Given the description of an element on the screen output the (x, y) to click on. 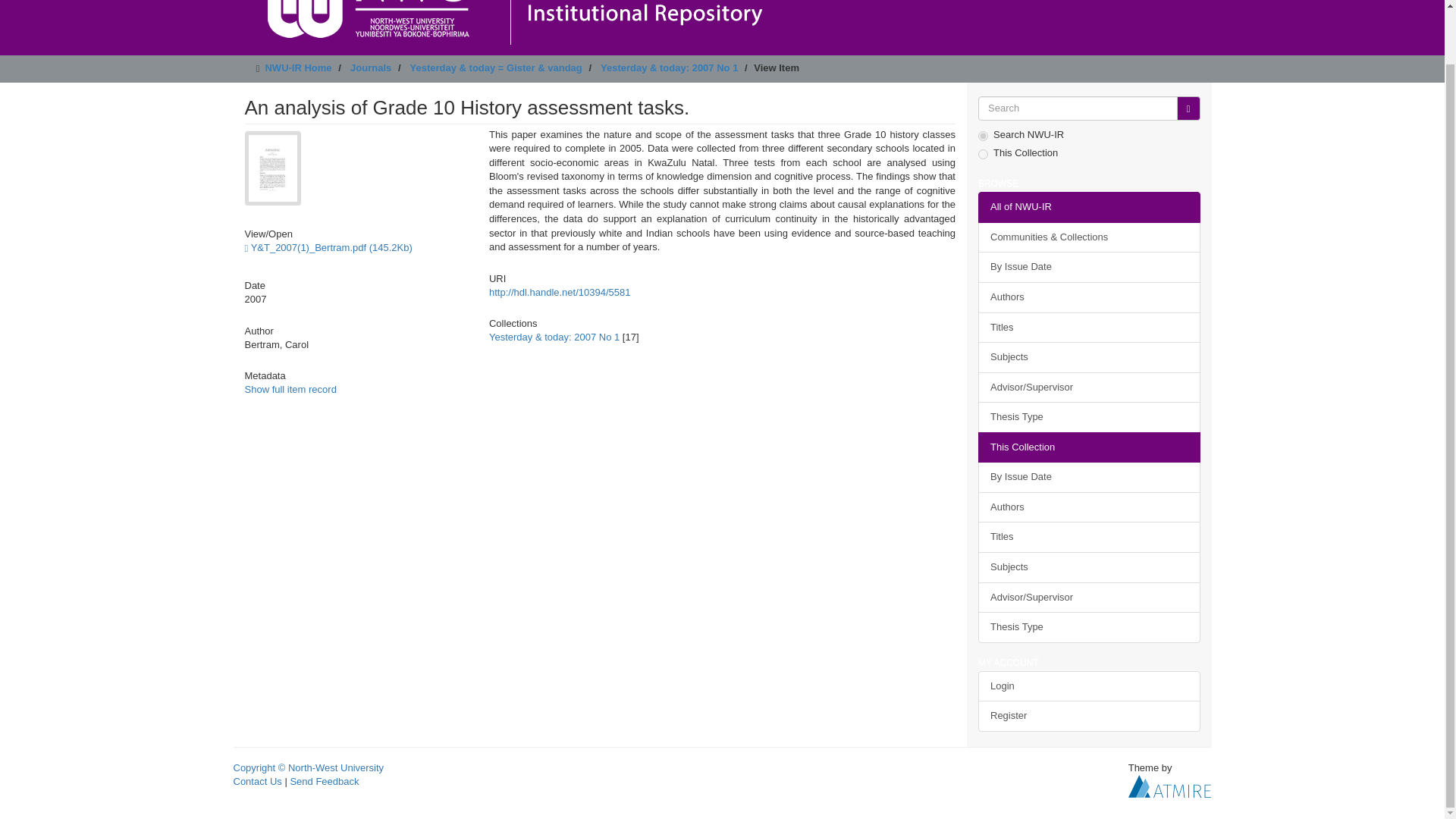
Thesis Type (1088, 626)
By Issue Date (1088, 477)
By Issue Date (1088, 266)
Show full item record (290, 389)
This Collection (1088, 447)
Thesis Type (1088, 417)
Authors (1088, 296)
Atmire NV (1169, 785)
Subjects (1088, 357)
Titles (1088, 536)
Go (1187, 108)
All of NWU-IR (1088, 206)
Authors (1088, 507)
Subjects (1088, 567)
NWU-IR Home (297, 67)
